Given the description of an element on the screen output the (x, y) to click on. 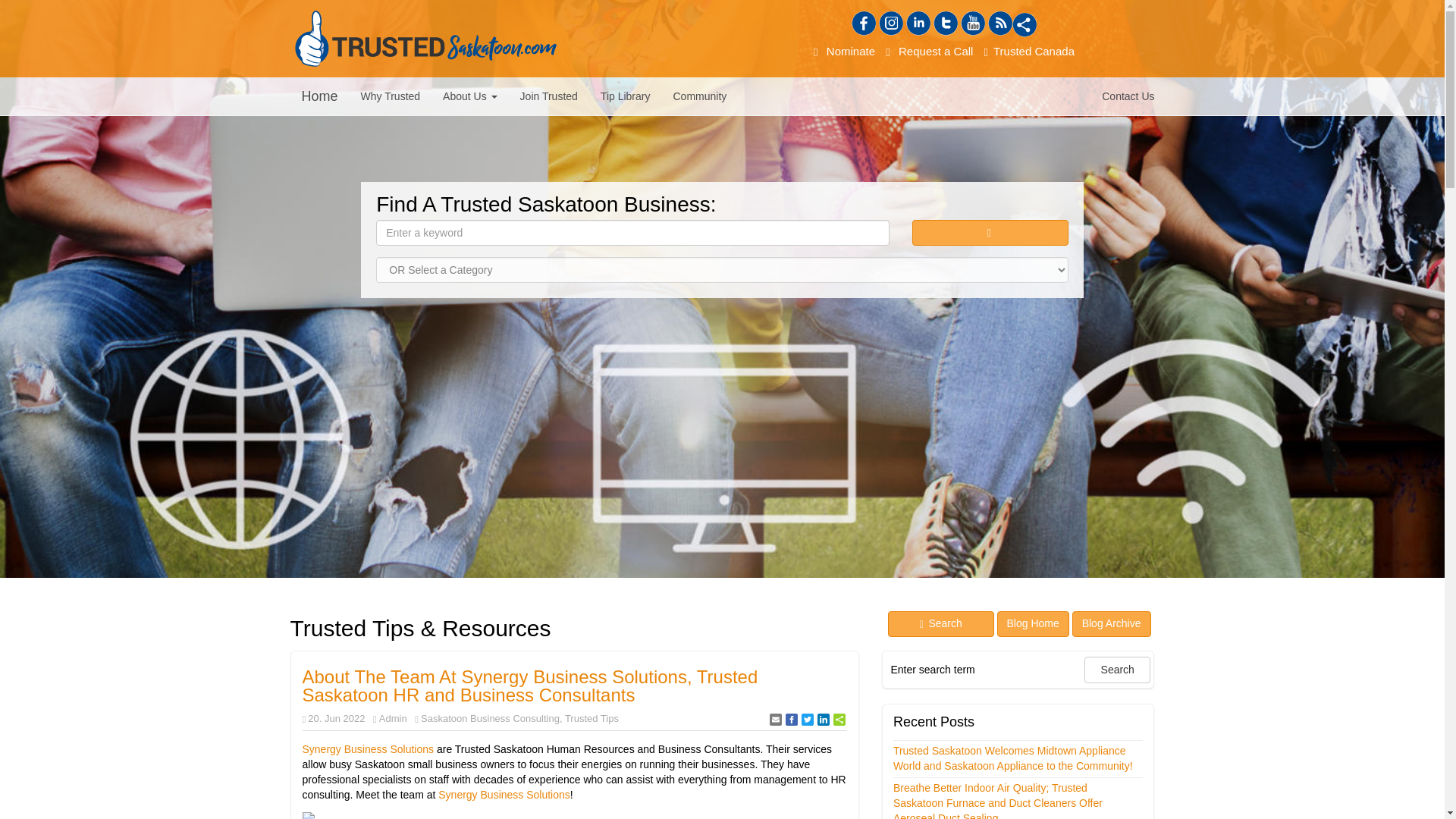
Instagram (890, 23)
Enter search term (984, 669)
Synergy Business Solutions (368, 748)
  Request a Call (929, 51)
Twitter (945, 23)
Blog Archive (1111, 623)
Search (990, 232)
Trusted Canada (1028, 51)
Trusted Saskatoon (424, 38)
Admin (392, 717)
Search (941, 623)
Linked In (917, 23)
Blog Home (1032, 623)
Synergy Business Solutions (504, 794)
